Given the description of an element on the screen output the (x, y) to click on. 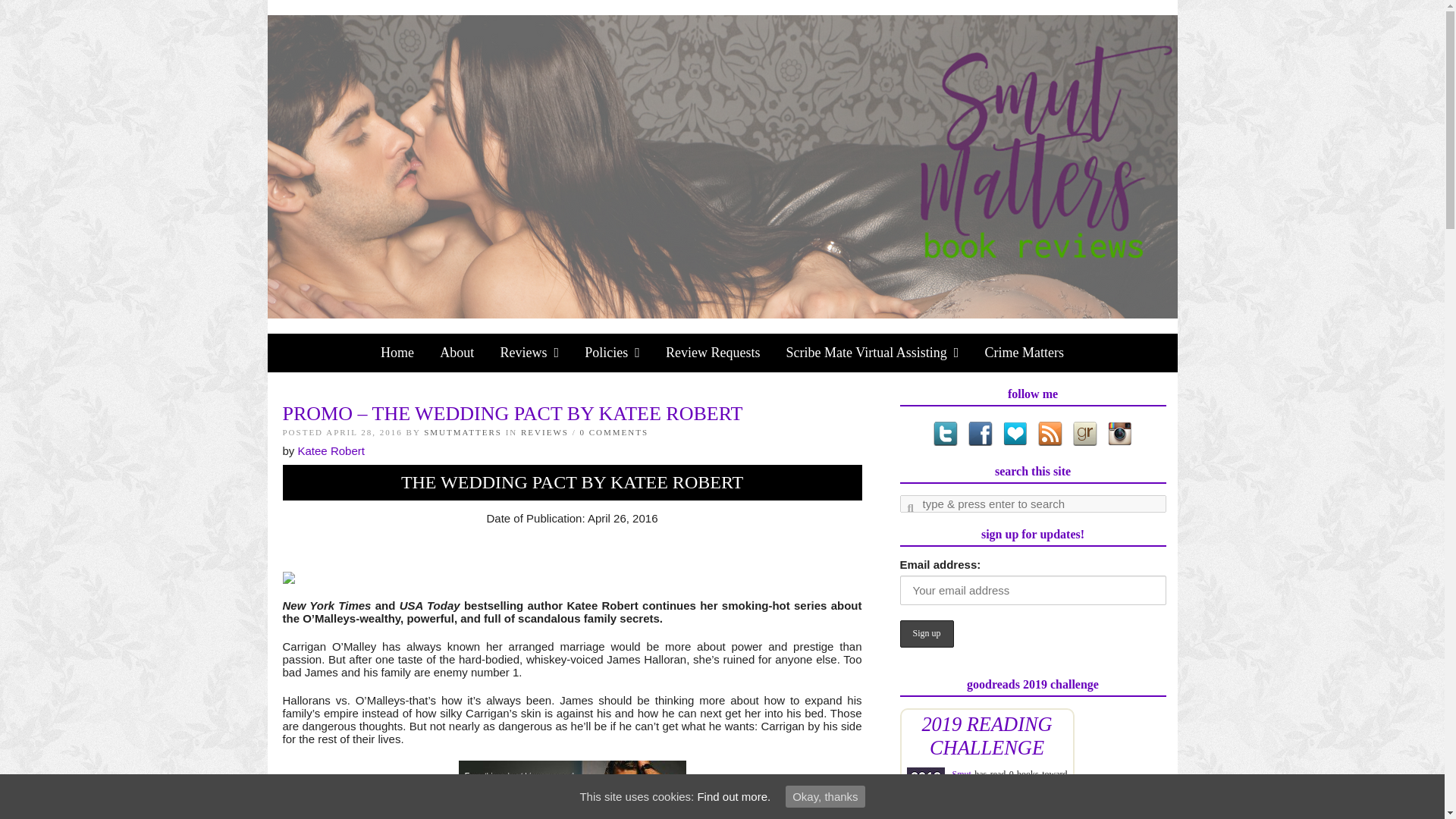
Reviews   (528, 352)
0 COMMENTS (613, 431)
Crime Matters (1023, 352)
Home (397, 352)
Review Requests (712, 352)
View all posts in Reviews (545, 431)
Sign up (926, 633)
Katee Robert (331, 450)
Policies   (611, 352)
SMUTMATTERS (462, 431)
About (456, 352)
Scribe Mate Virtual Assisting   (872, 352)
REVIEWS (545, 431)
